Given the description of an element on the screen output the (x, y) to click on. 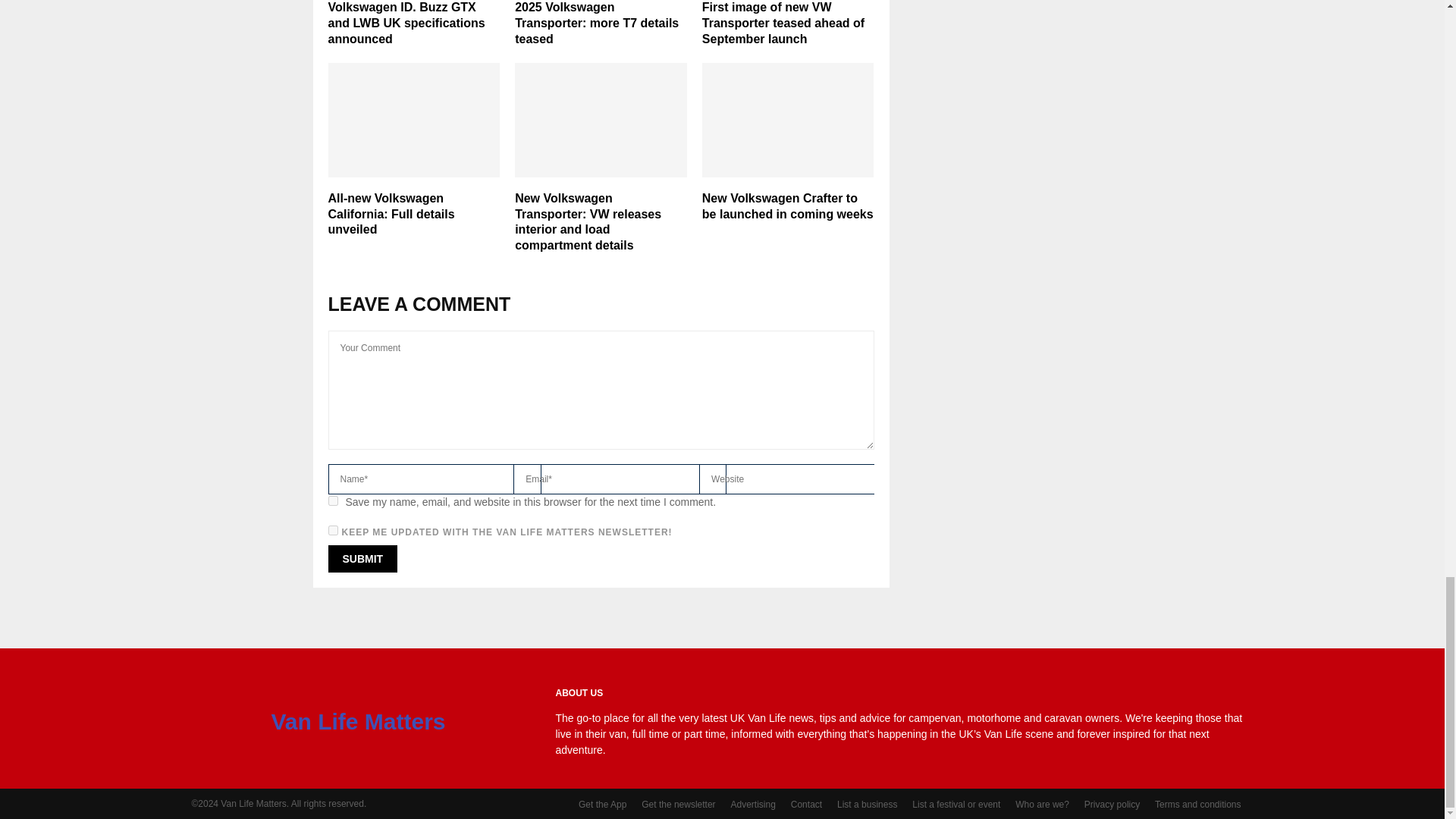
1 (332, 530)
yes (332, 501)
Submit (362, 558)
